Given the description of an element on the screen output the (x, y) to click on. 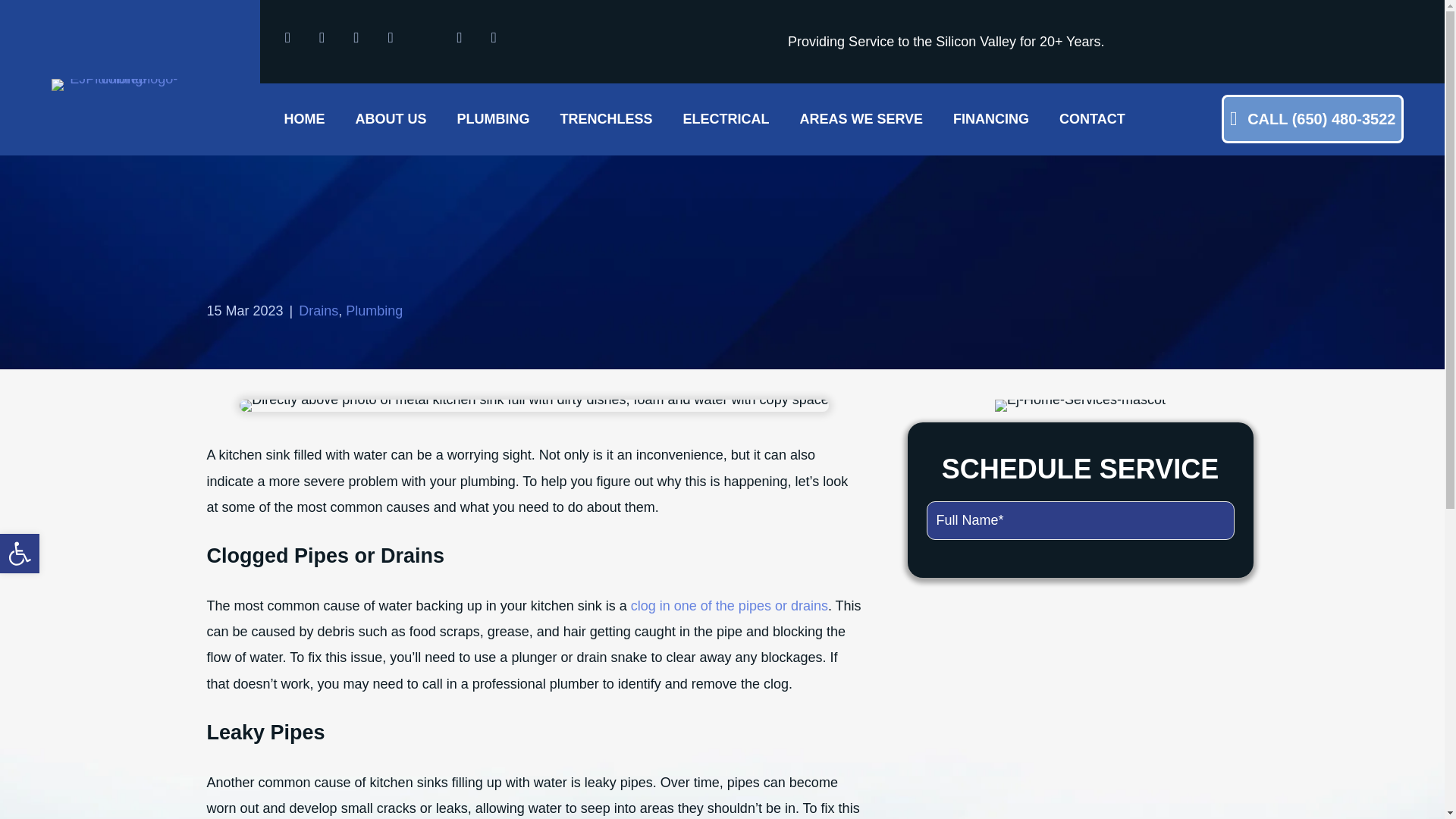
TRENCHLESS (605, 118)
Accessibility Tools (19, 553)
ABOUT US (390, 118)
EJPlumbing-logo-colored (117, 84)
Ej-Home-Services-mascot (1080, 405)
PLUMBING (492, 118)
HOME (303, 118)
